Given the description of an element on the screen output the (x, y) to click on. 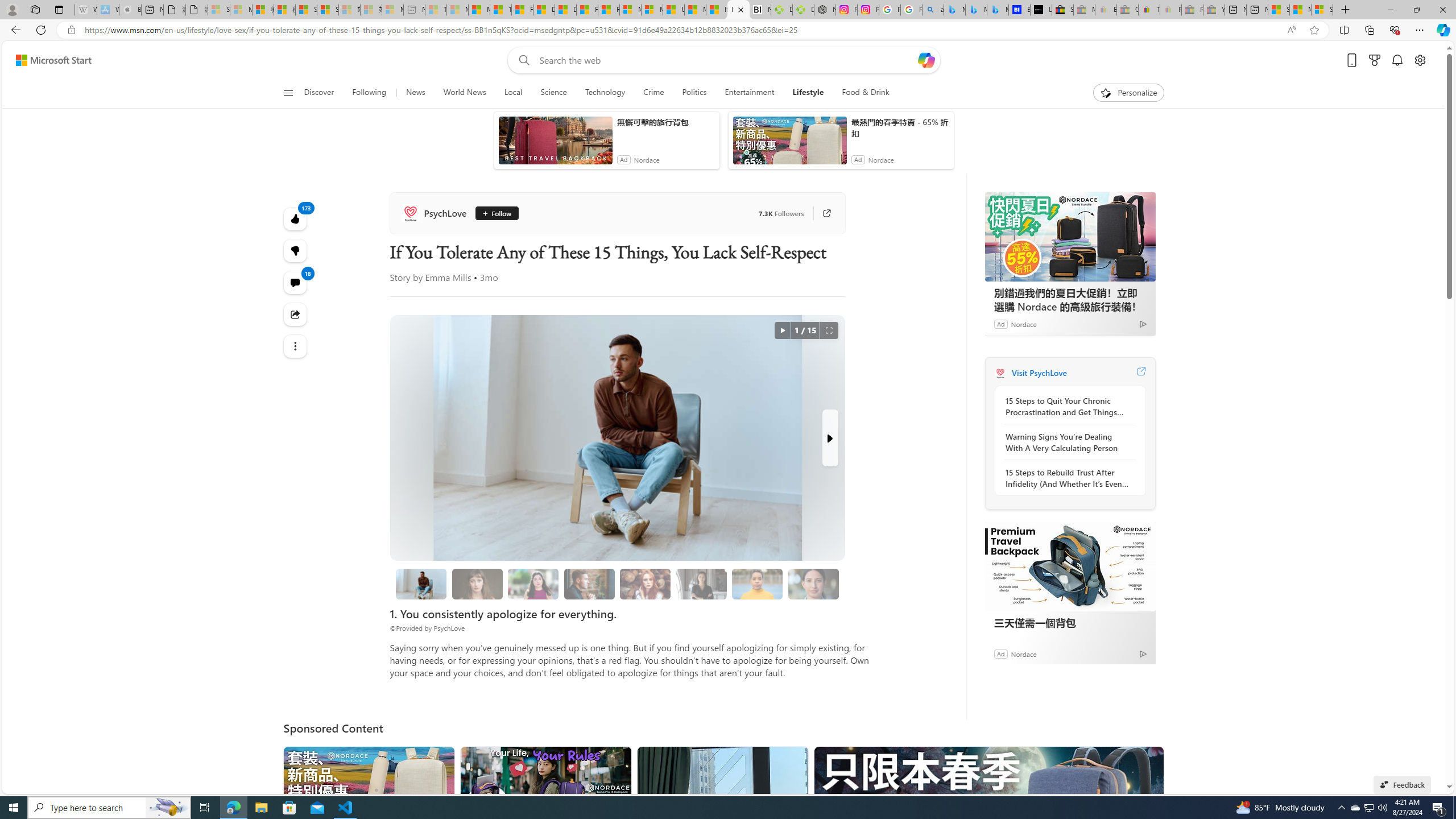
Entertainment (749, 92)
4. You can name and understand your feelings. (533, 583)
Marine life - MSN - Sleeping (457, 9)
Enter your search term (726, 59)
Follow (496, 213)
Entertainment (748, 92)
